Given the description of an element on the screen output the (x, y) to click on. 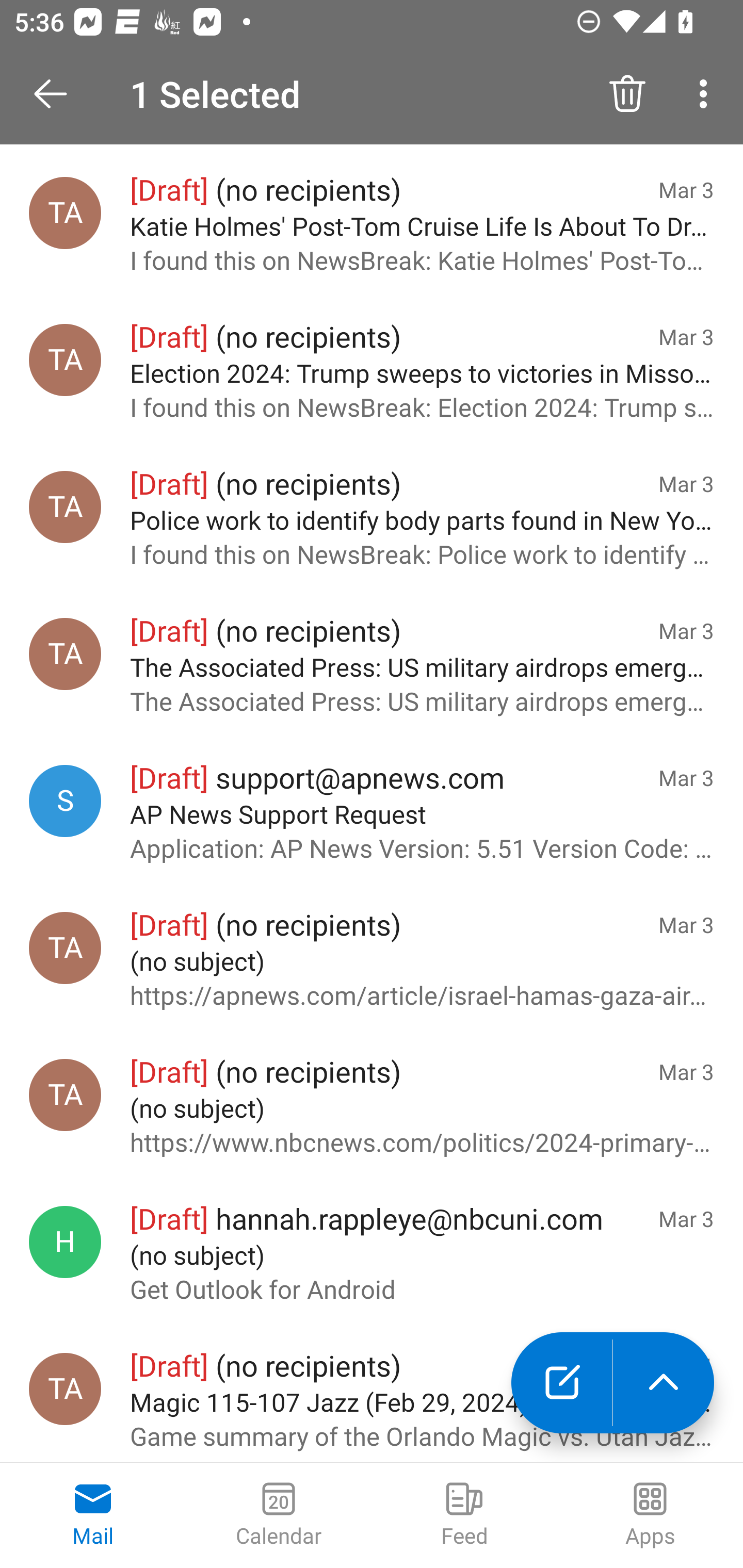
Delete (626, 93)
More options (706, 93)
Open Navigation Drawer (57, 94)
Test Appium, testappium002@outlook.com (64, 213)
Test Appium, testappium002@outlook.com (64, 360)
Test Appium, testappium002@outlook.com (64, 506)
Test Appium, testappium002@outlook.com (64, 653)
support@apnews.com (64, 801)
Test Appium, testappium002@outlook.com (64, 948)
Test Appium, testappium002@outlook.com (64, 1094)
hannah.rappleye@nbcuni.com (64, 1241)
New mail (561, 1382)
launch the extended action menu (663, 1382)
Test Appium, testappium002@outlook.com (64, 1389)
Calendar (278, 1515)
Feed (464, 1515)
Apps (650, 1515)
